Given the description of an element on the screen output the (x, y) to click on. 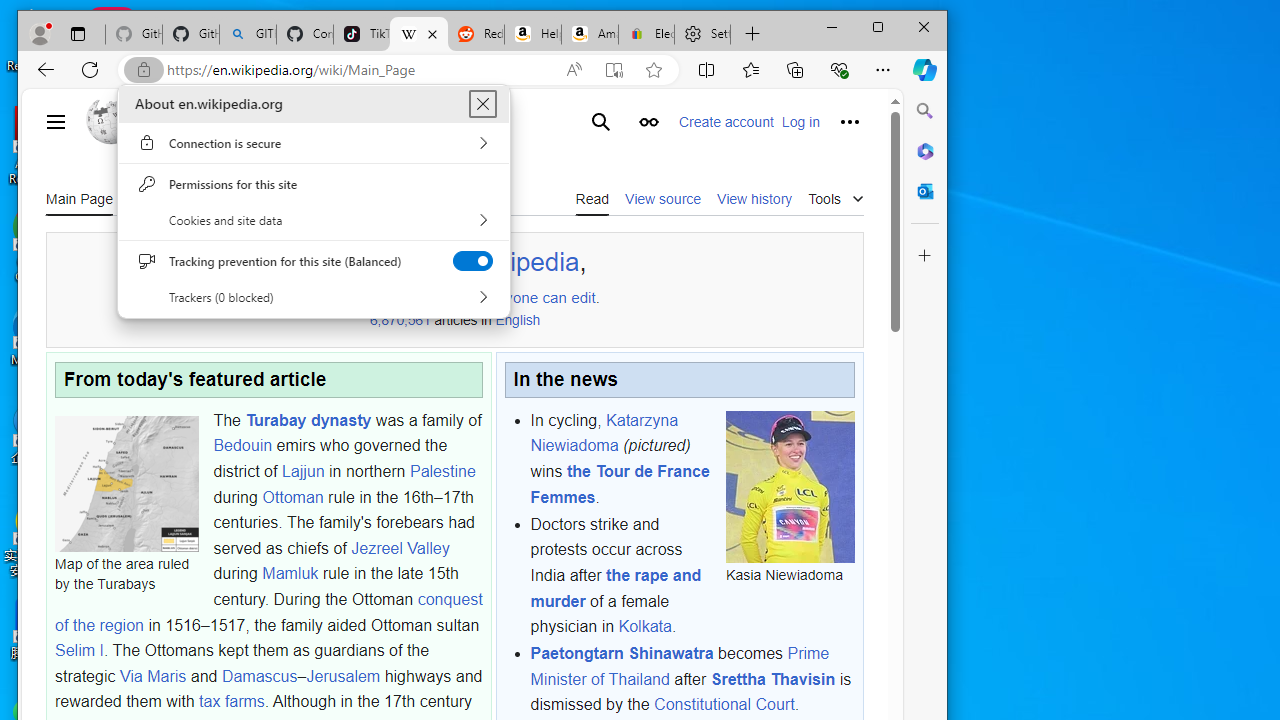
Tracking prevention for this site (Balanced) (472, 260)
the Tour de France Femmes (619, 484)
Kolkata (645, 626)
conquest of the region (268, 611)
Prime Minister of Thailand (679, 666)
Damascus (259, 675)
Create account (726, 121)
Jezreel Valley (400, 548)
